Given the description of an element on the screen output the (x, y) to click on. 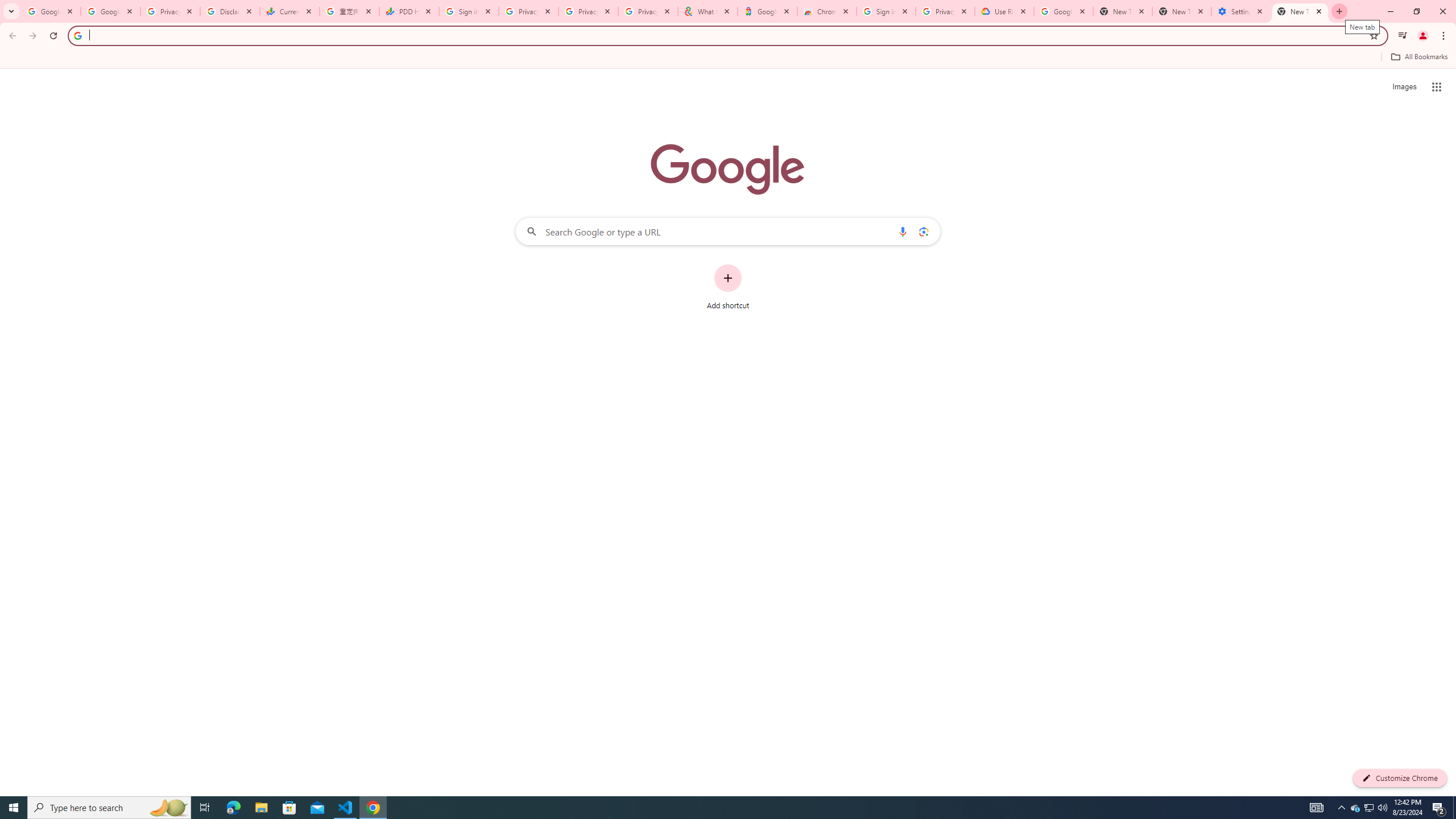
Sign in - Google Accounts (885, 11)
New Tab (1300, 11)
Currencies - Google Finance (289, 11)
Sign in - Google Accounts (468, 11)
